Given the description of an element on the screen output the (x, y) to click on. 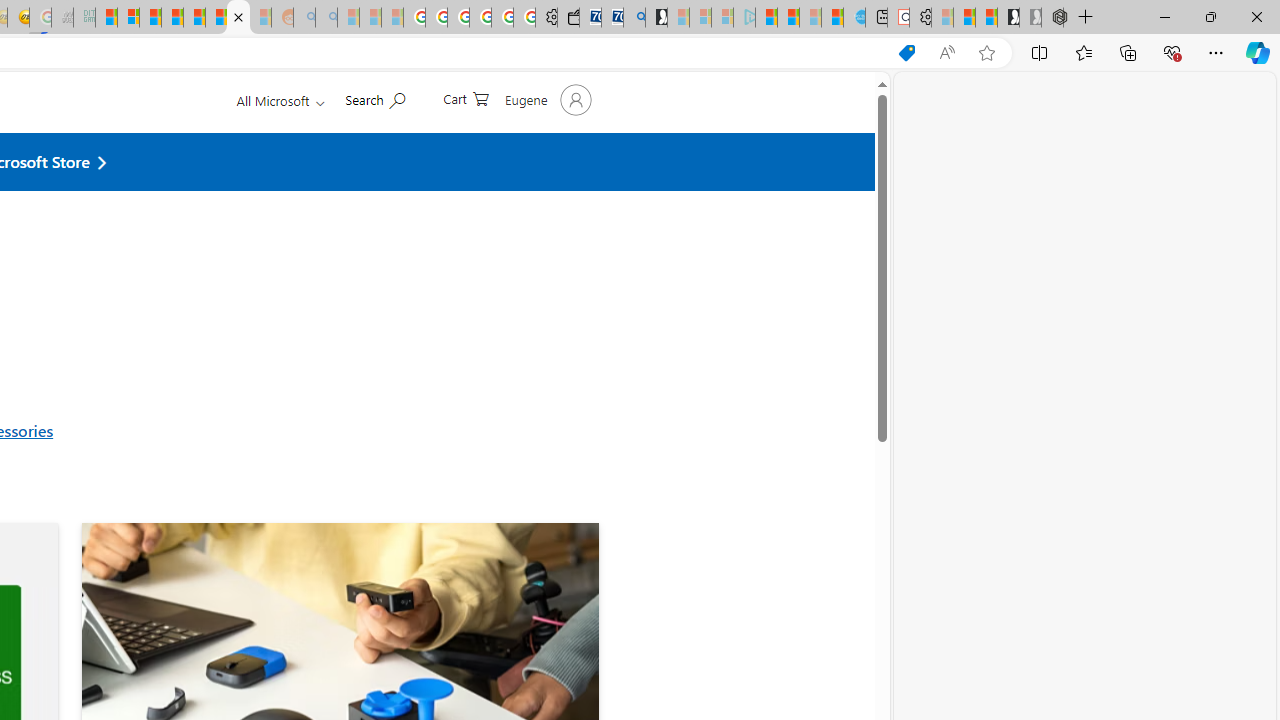
Account manager for Eugene (545, 147)
Wallet (568, 17)
